Given the description of an element on the screen output the (x, y) to click on. 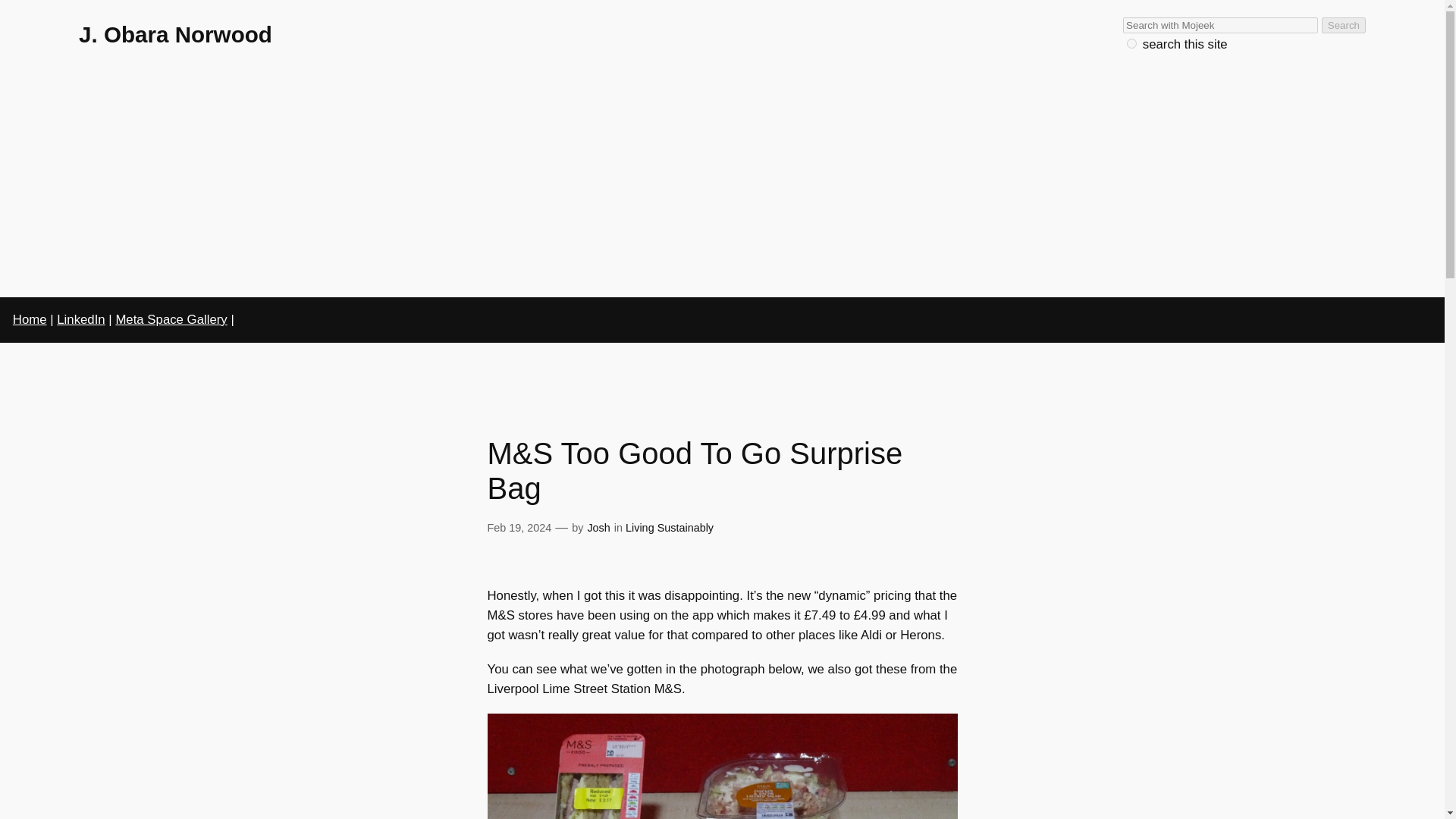
J. Obara Norwood (175, 34)
Josh (598, 527)
Search (1343, 25)
LinkedIn (80, 319)
Meta Space Gallery (171, 319)
Home (29, 319)
Feb 19, 2024 (518, 527)
Search (1343, 25)
Living Sustainably (669, 527)
